Given the description of an element on the screen output the (x, y) to click on. 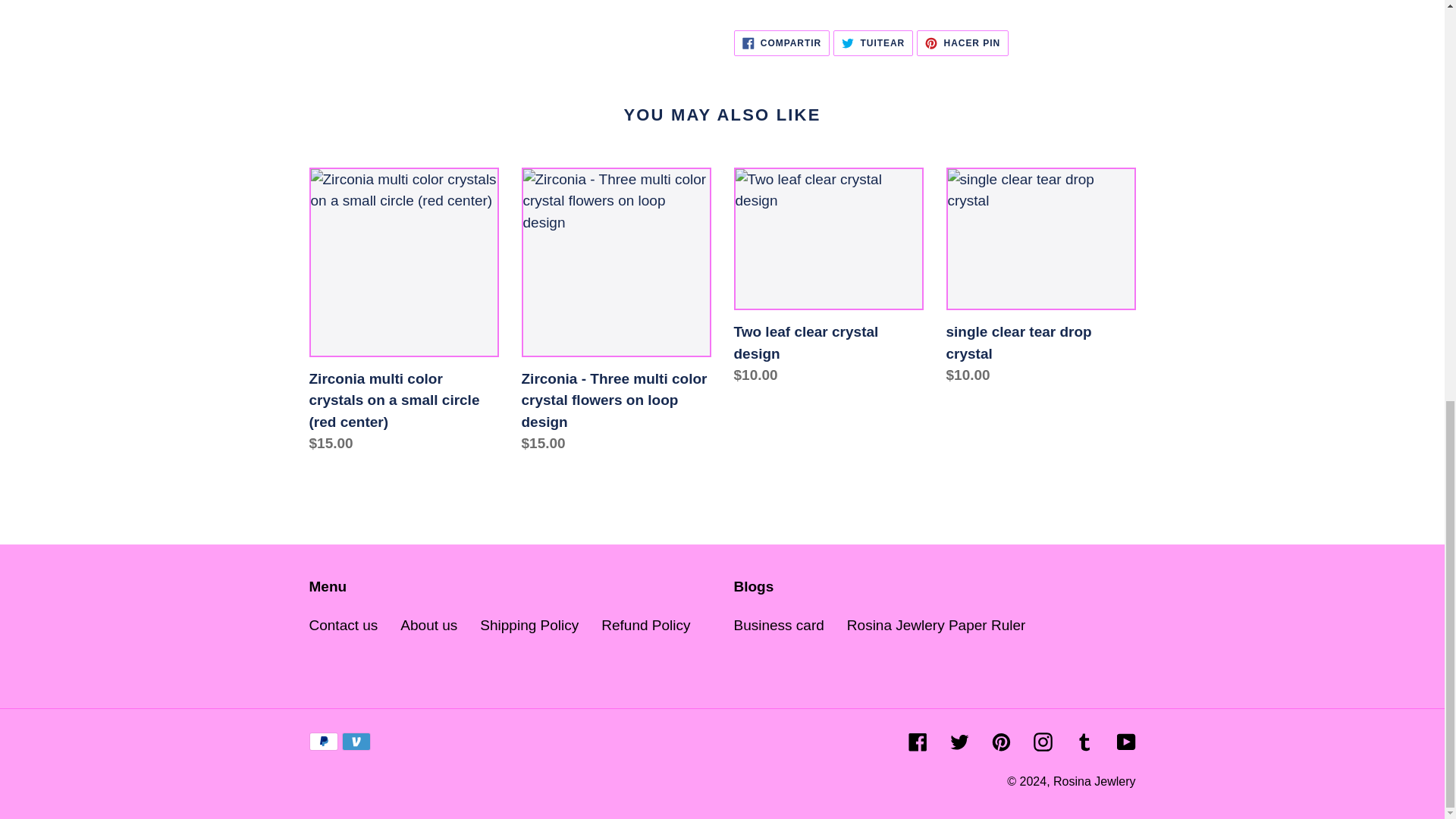
About us (428, 625)
Contact us (343, 625)
Shipping Policy (529, 625)
Refund Policy (645, 625)
Business card (781, 43)
Rosina Jewlery Paper Ruler (778, 625)
